Given the description of an element on the screen output the (x, y) to click on. 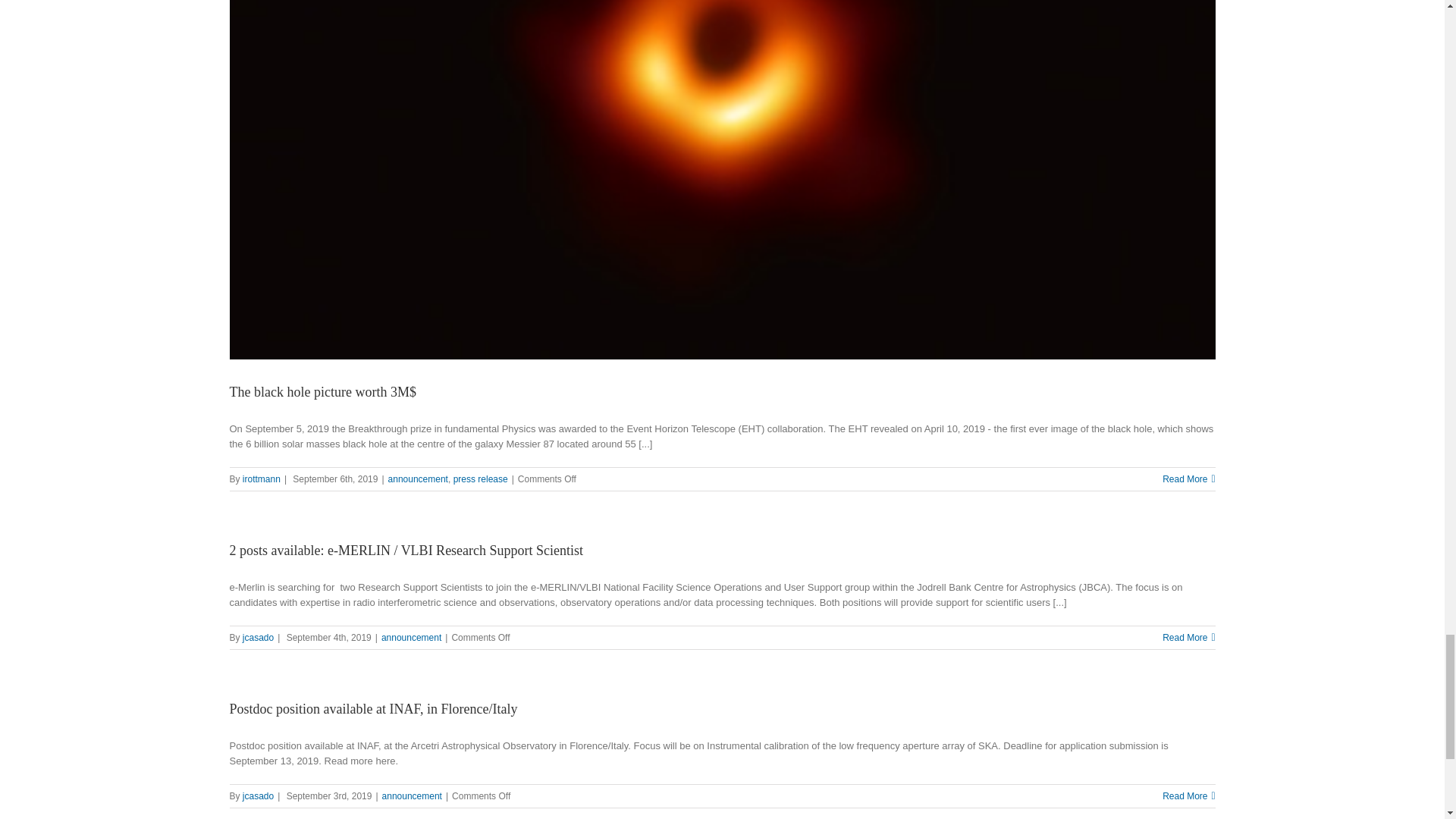
Posts by jcasado (258, 637)
Posts by jcasado (258, 796)
Posts by irottmann (262, 479)
